Given the description of an element on the screen output the (x, y) to click on. 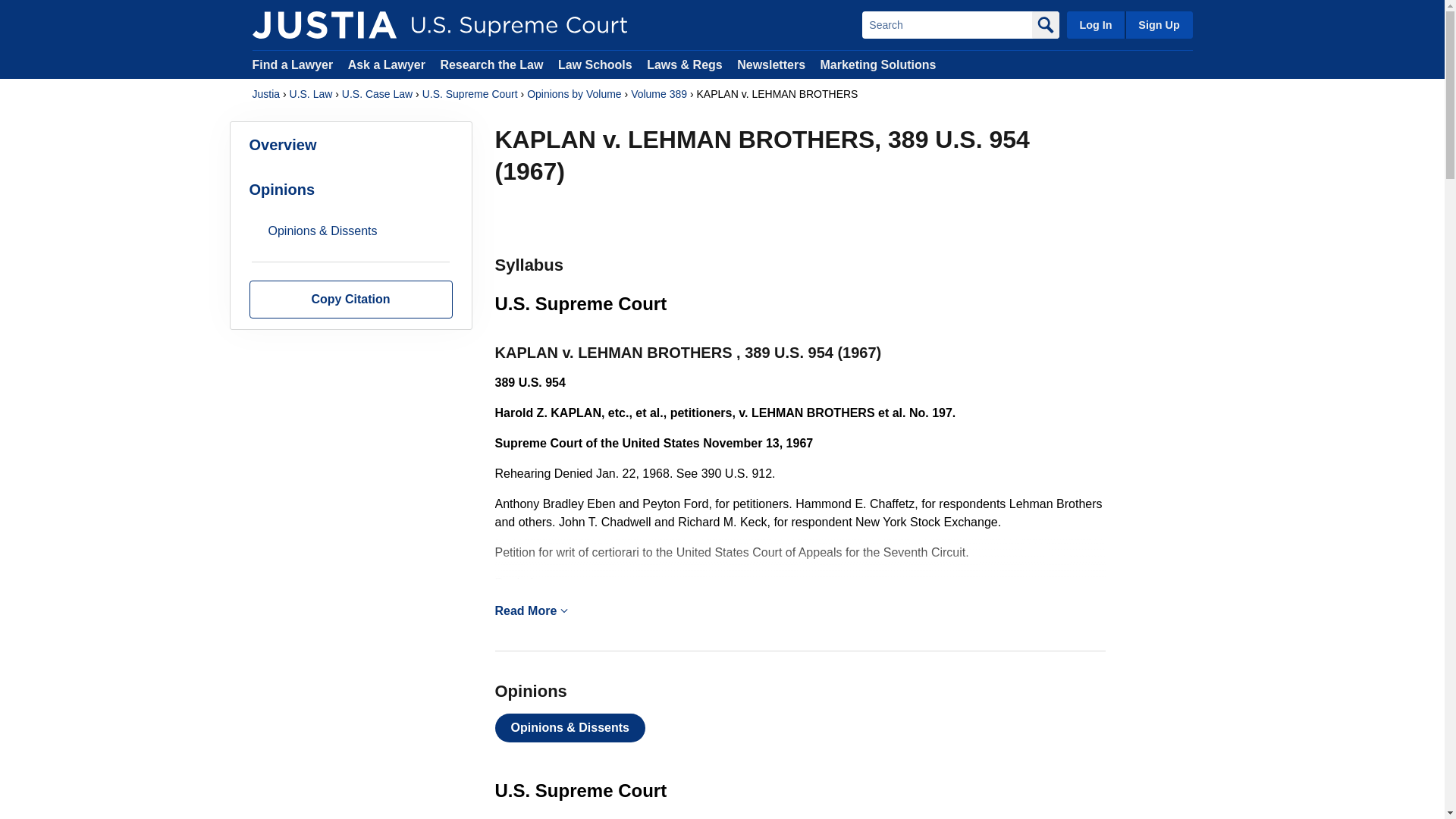
Volume 389 (658, 93)
U.S. Supreme Court (470, 93)
Log In (1094, 24)
Justia (323, 24)
Mobile Navigation (563, 610)
Ask a Lawyer (388, 64)
Justia (265, 93)
U.S. Case Law (377, 93)
Marketing Solutions (877, 64)
Search (945, 24)
Law Schools (594, 64)
Research the Law (491, 64)
Newsletters (770, 64)
U.S. Law (311, 93)
Find a Lawyer (292, 64)
